Given the description of an element on the screen output the (x, y) to click on. 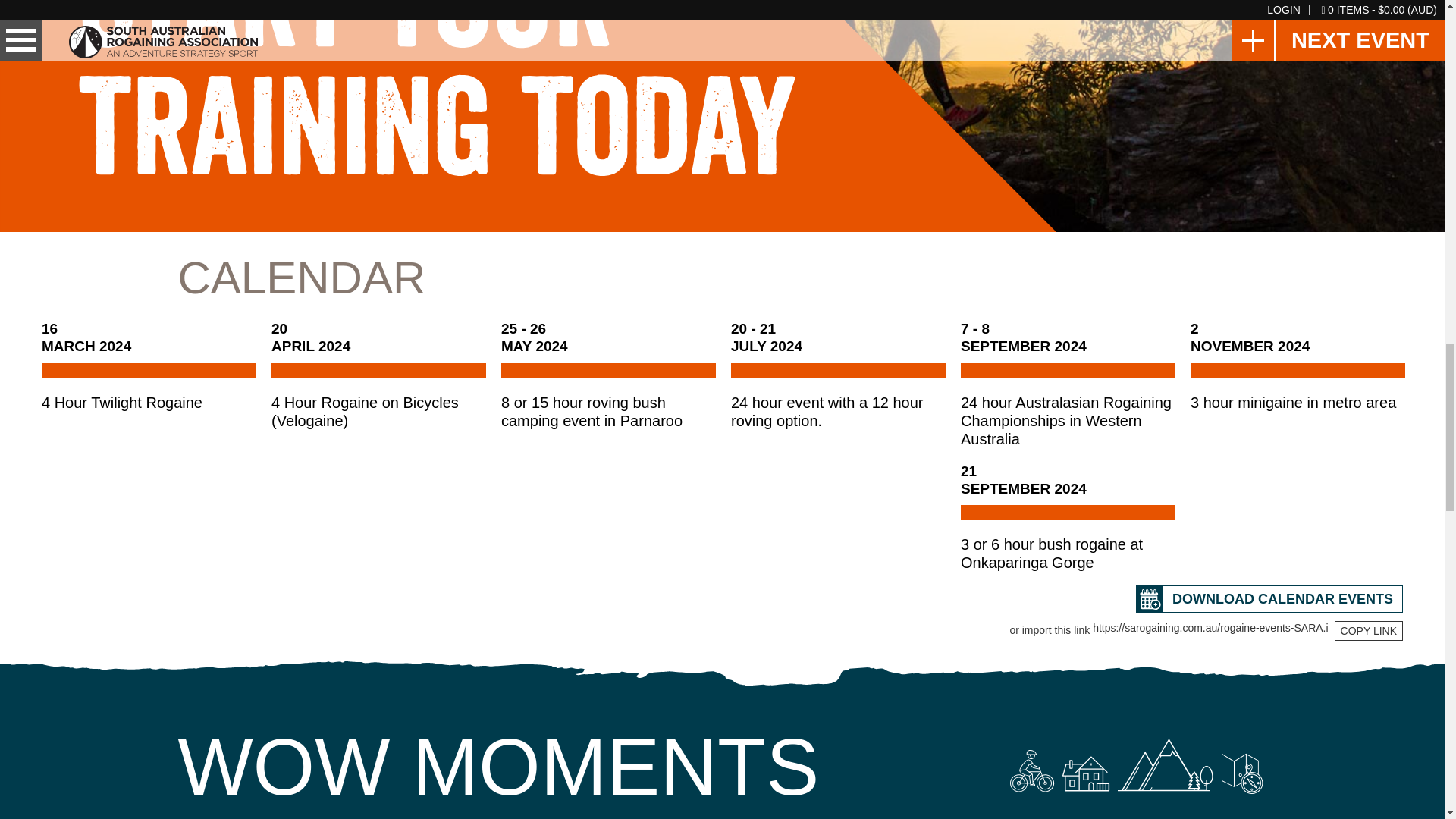
View event: Parna-roo-gaine (608, 375)
View event: Nautical Navigators of Noarlunga (149, 366)
Download Calendar Events (1269, 598)
Copy link to clipboard (1369, 630)
View event: Minigaine (1298, 366)
